Given the description of an element on the screen output the (x, y) to click on. 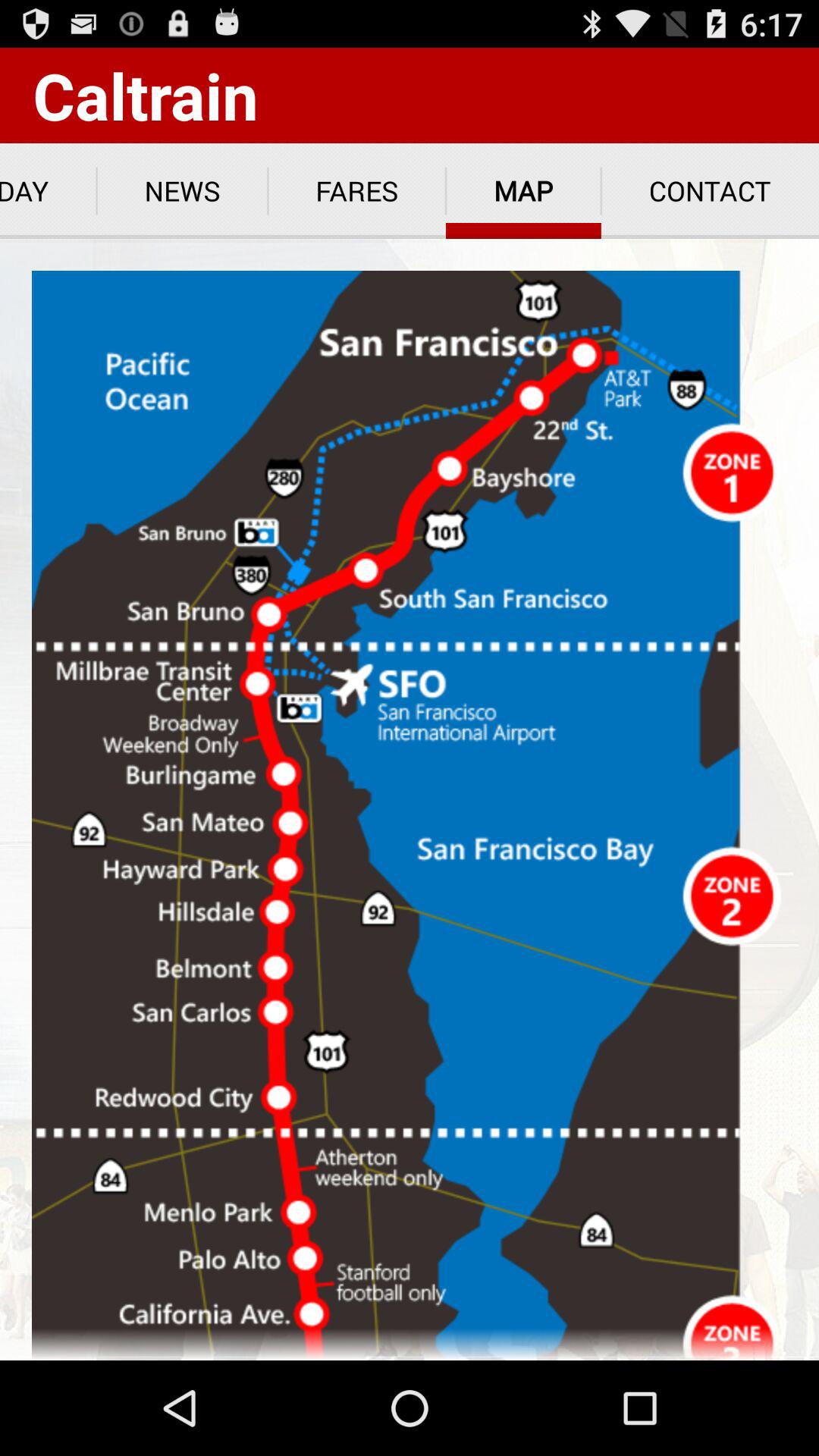
select app to the right of the news app (356, 190)
